Given the description of an element on the screen output the (x, y) to click on. 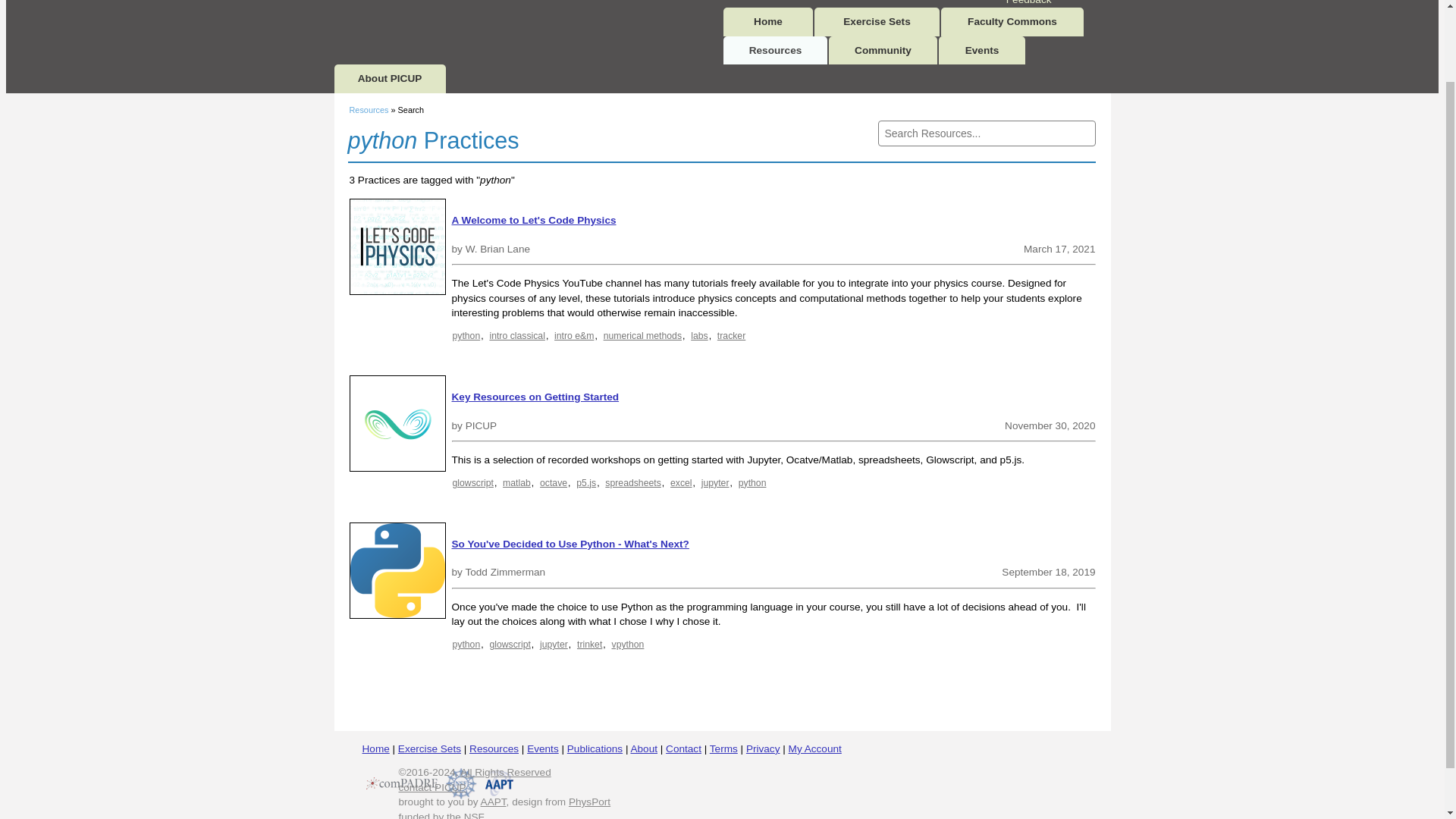
jupyter (553, 644)
Events (982, 50)
About PICUP (389, 78)
Community (882, 50)
glowscript (509, 644)
A Welcome to Let's Code Physics (533, 220)
octave (552, 482)
vpython (628, 644)
Resources (368, 109)
p5.js (585, 482)
